Given the description of an element on the screen output the (x, y) to click on. 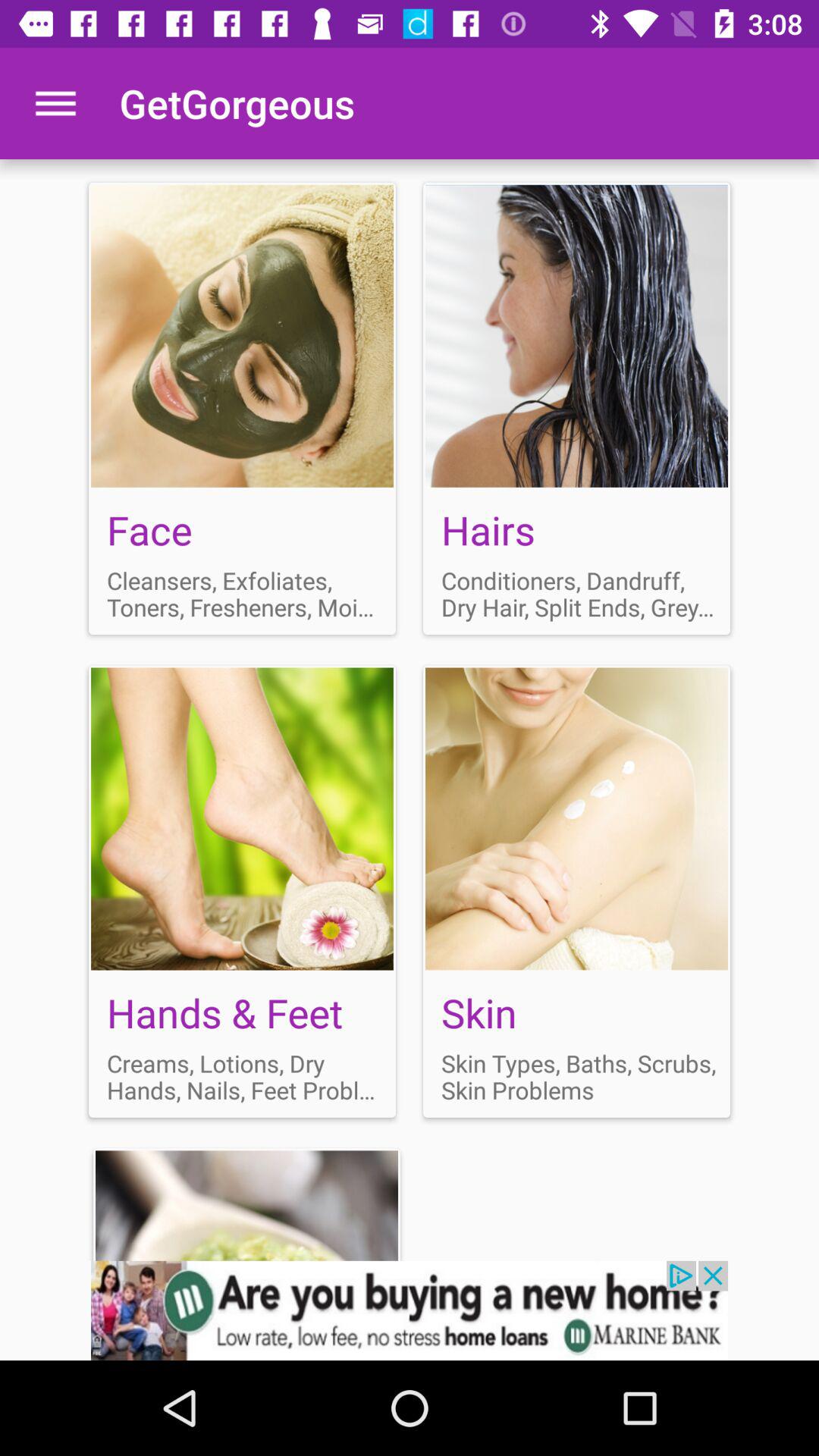
to select options for hands feet (242, 891)
